Given the description of an element on the screen output the (x, y) to click on. 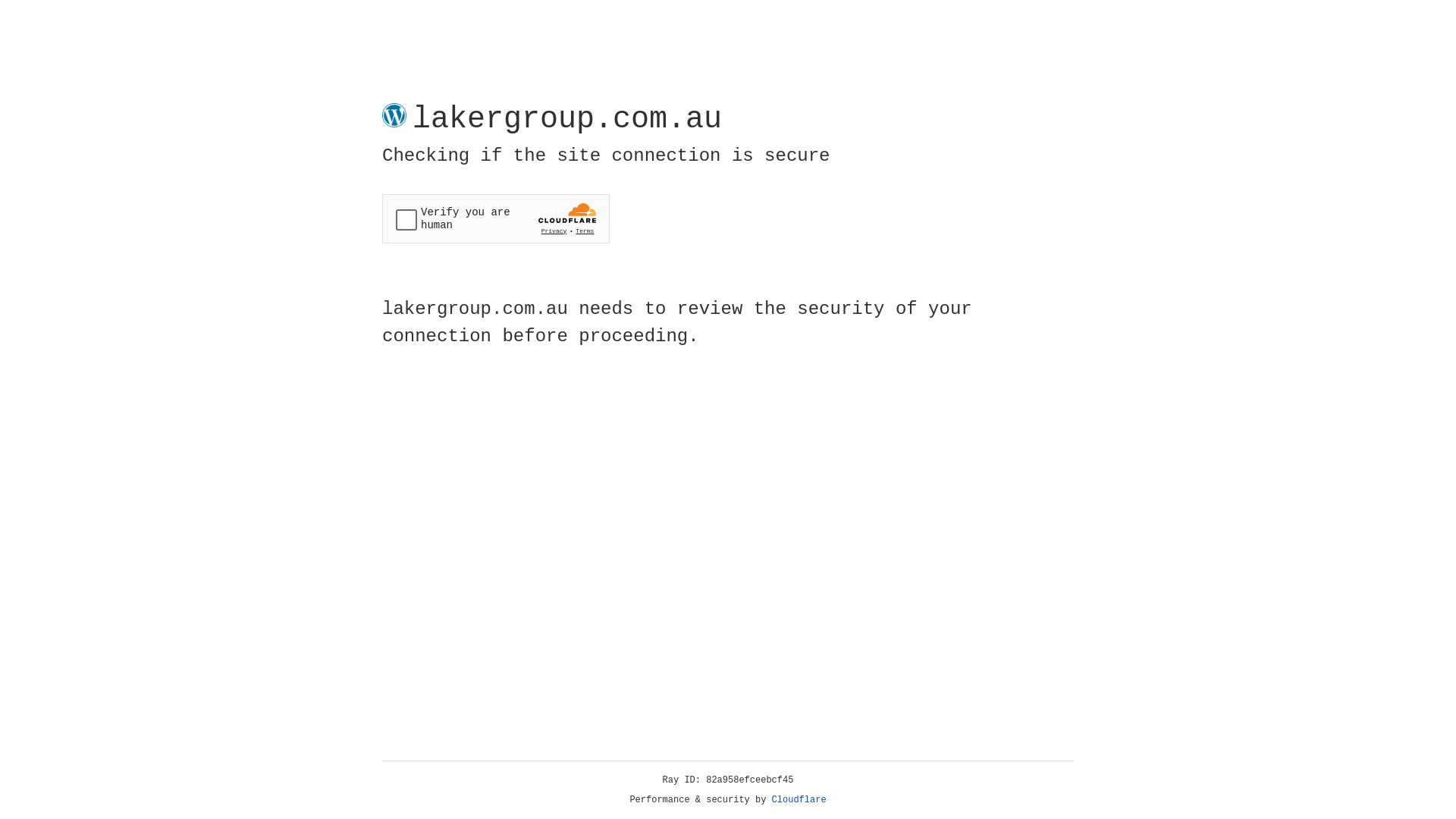
Widget containing a Cloudflare security challenge Element type: hover (495, 218)
Cloudflare Element type: text (798, 799)
